Given the description of an element on the screen output the (x, y) to click on. 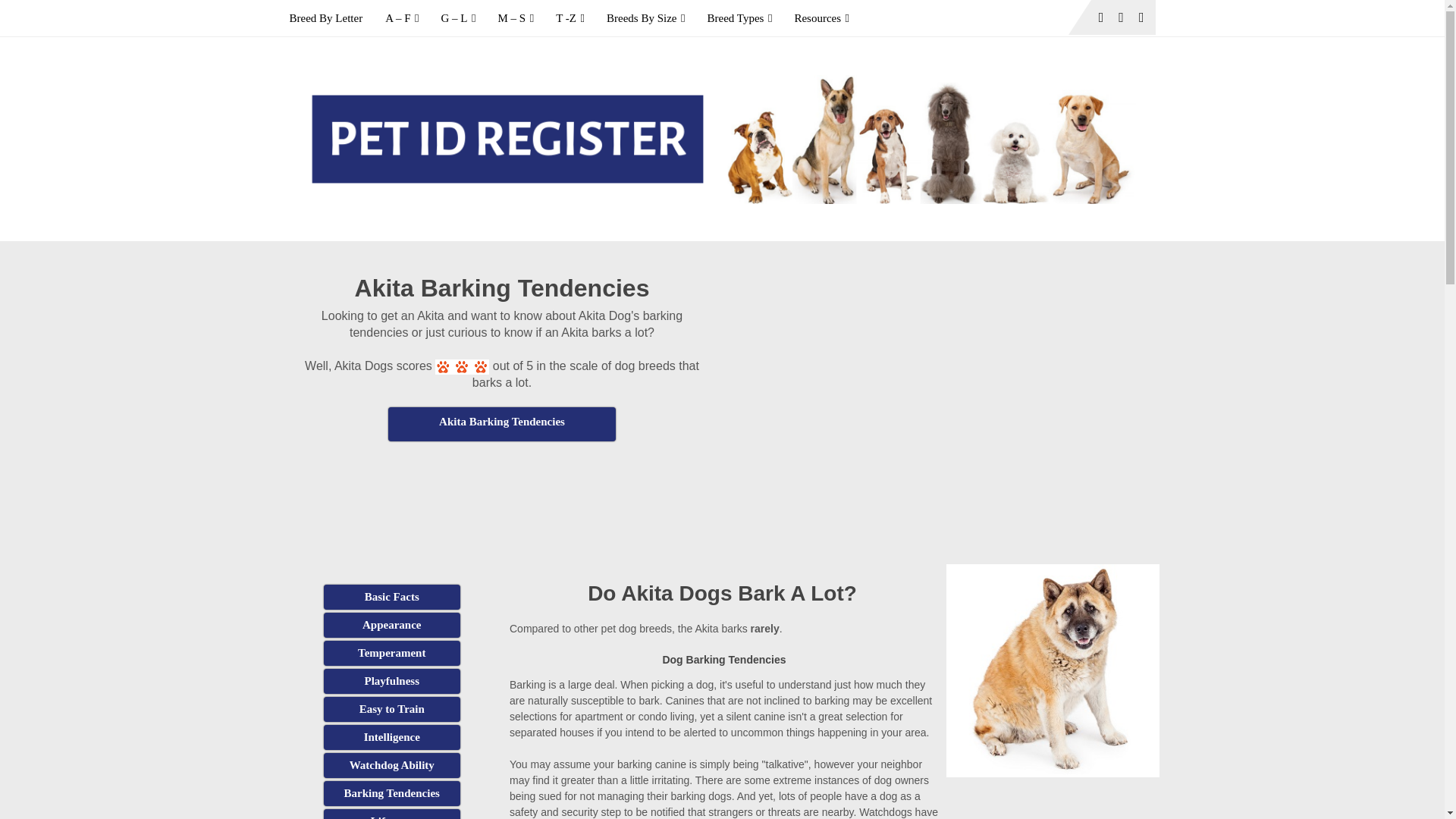
What are the temperaments of Akita Dogs? (391, 652)
How does an Akita Dog look like? (391, 625)
tooltip (501, 424)
What is the lifespan of Akita Dogs? (391, 814)
Breed Types (739, 18)
Advertisement (501, 479)
Breed By Letter (331, 18)
Will Akita Dogs make good guard dogs? (391, 765)
Resources (821, 18)
Breeds By Size (645, 18)
